Given the description of an element on the screen output the (x, y) to click on. 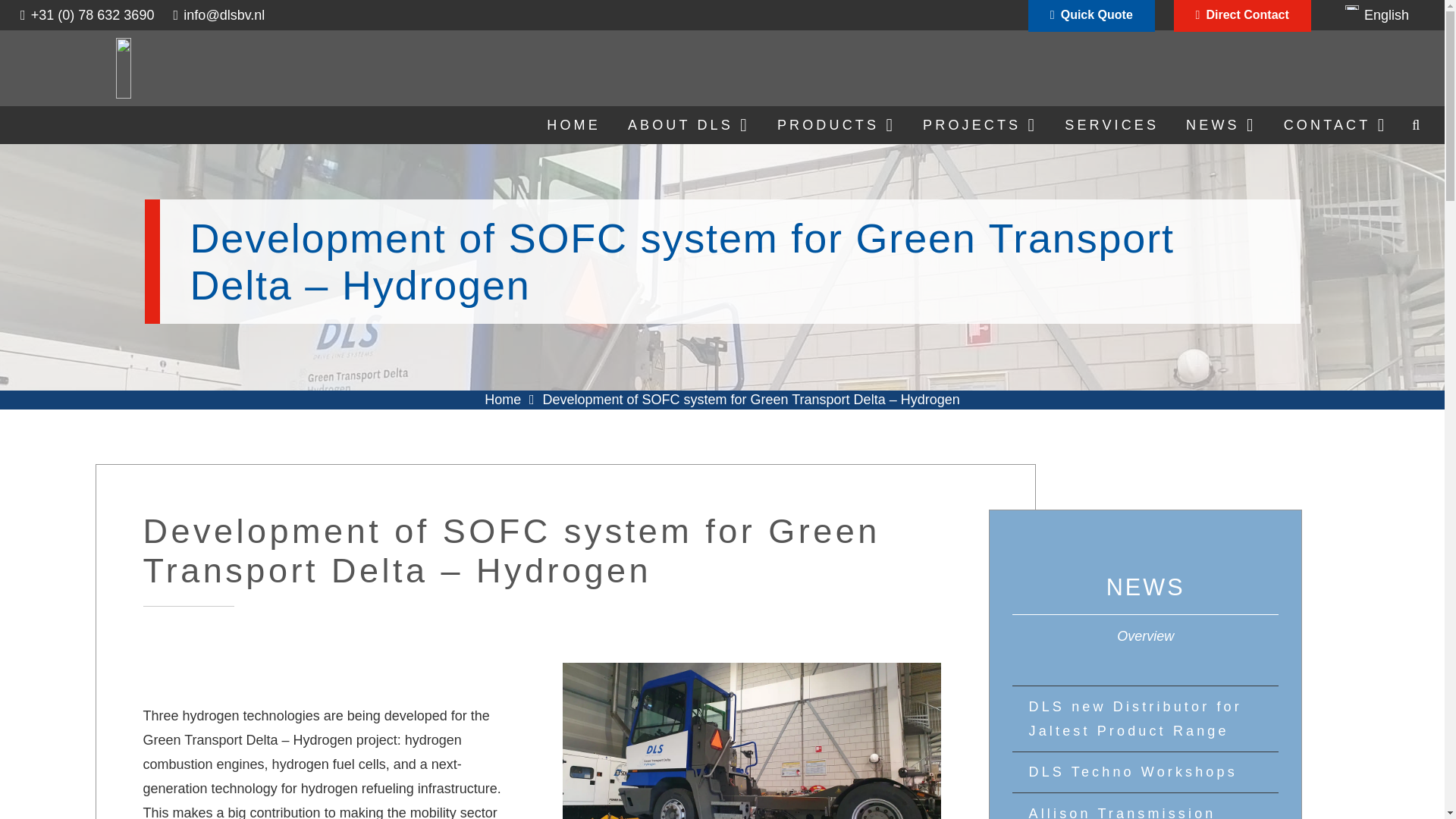
English (1376, 15)
HOME (573, 125)
English (1376, 15)
ABOUT DLS (688, 125)
PRODUCTS (835, 125)
PROJECTS (979, 125)
Direct Contact (1242, 16)
Quick Quote (1090, 16)
